Given the description of an element on the screen output the (x, y) to click on. 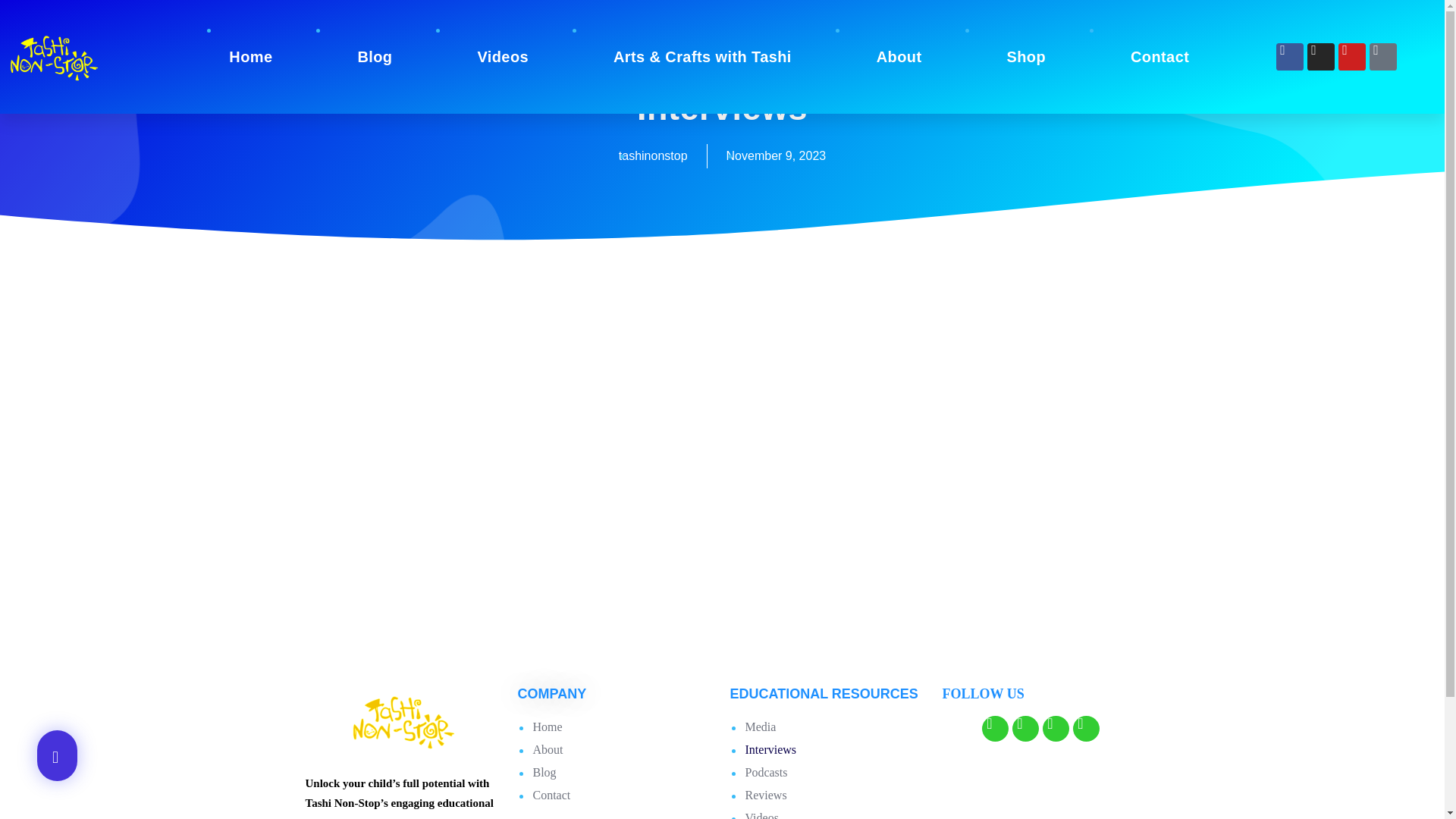
Blog (373, 56)
Contact (1159, 56)
tashinonstop (652, 156)
Home (250, 56)
Videos (501, 56)
November 9, 2023 (776, 156)
About (898, 56)
Shop (1025, 56)
